Given the description of an element on the screen output the (x, y) to click on. 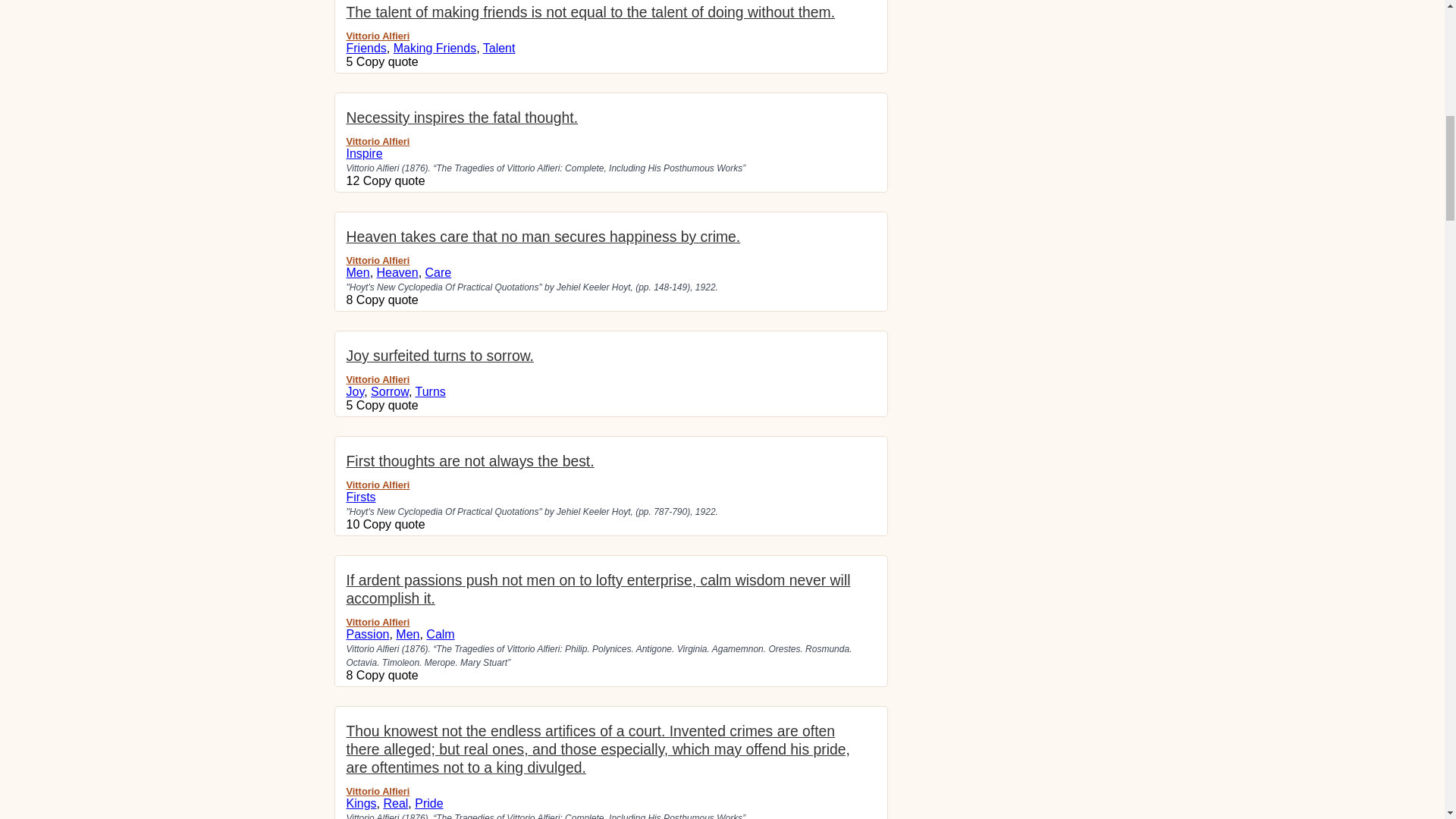
Quote is copied (393, 180)
Quote is copied (393, 523)
Quote is copied (387, 61)
Quote is copied (387, 675)
Quote is copied (387, 404)
Quote is copied (387, 299)
